Given the description of an element on the screen output the (x, y) to click on. 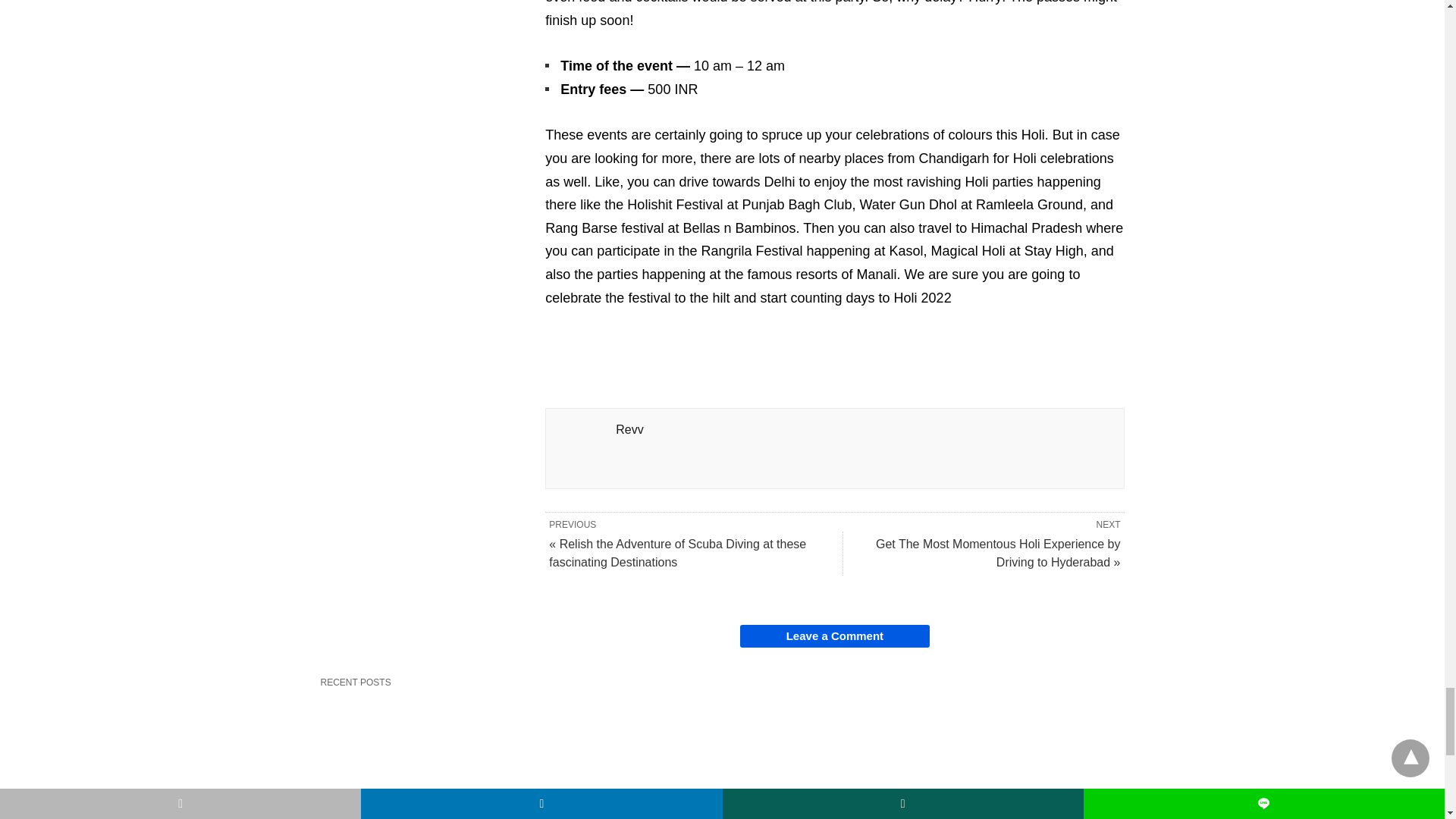
Leave a Comment (834, 635)
